Given the description of an element on the screen output the (x, y) to click on. 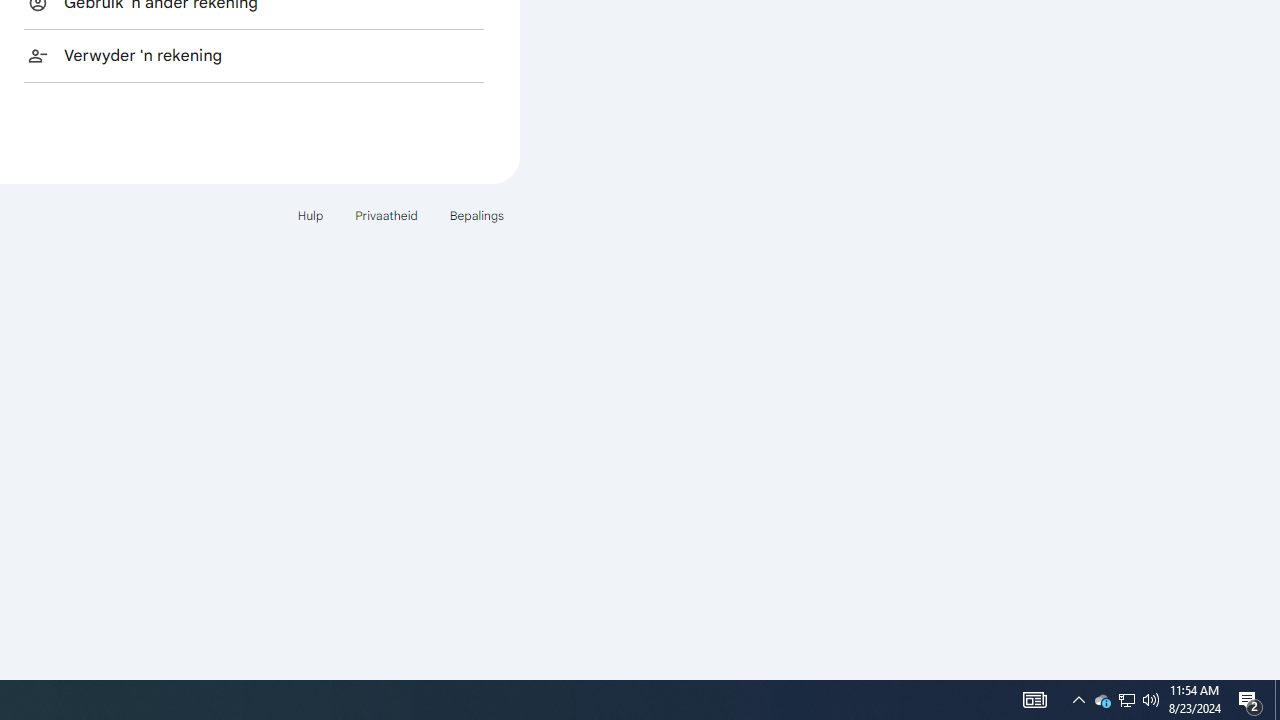
Q2790: 100% (1151, 699)
Notification Chevron (1078, 699)
AutomationID: 4105 (1034, 699)
Verwyder 'n rekening (253, 55)
Bepalings (1102, 699)
User Promoted Notification Area (475, 214)
Privaatheid (1126, 699)
Hulp (386, 214)
Show desktop (310, 214)
Action Center, 2 new notifications (1126, 699)
